Given the description of an element on the screen output the (x, y) to click on. 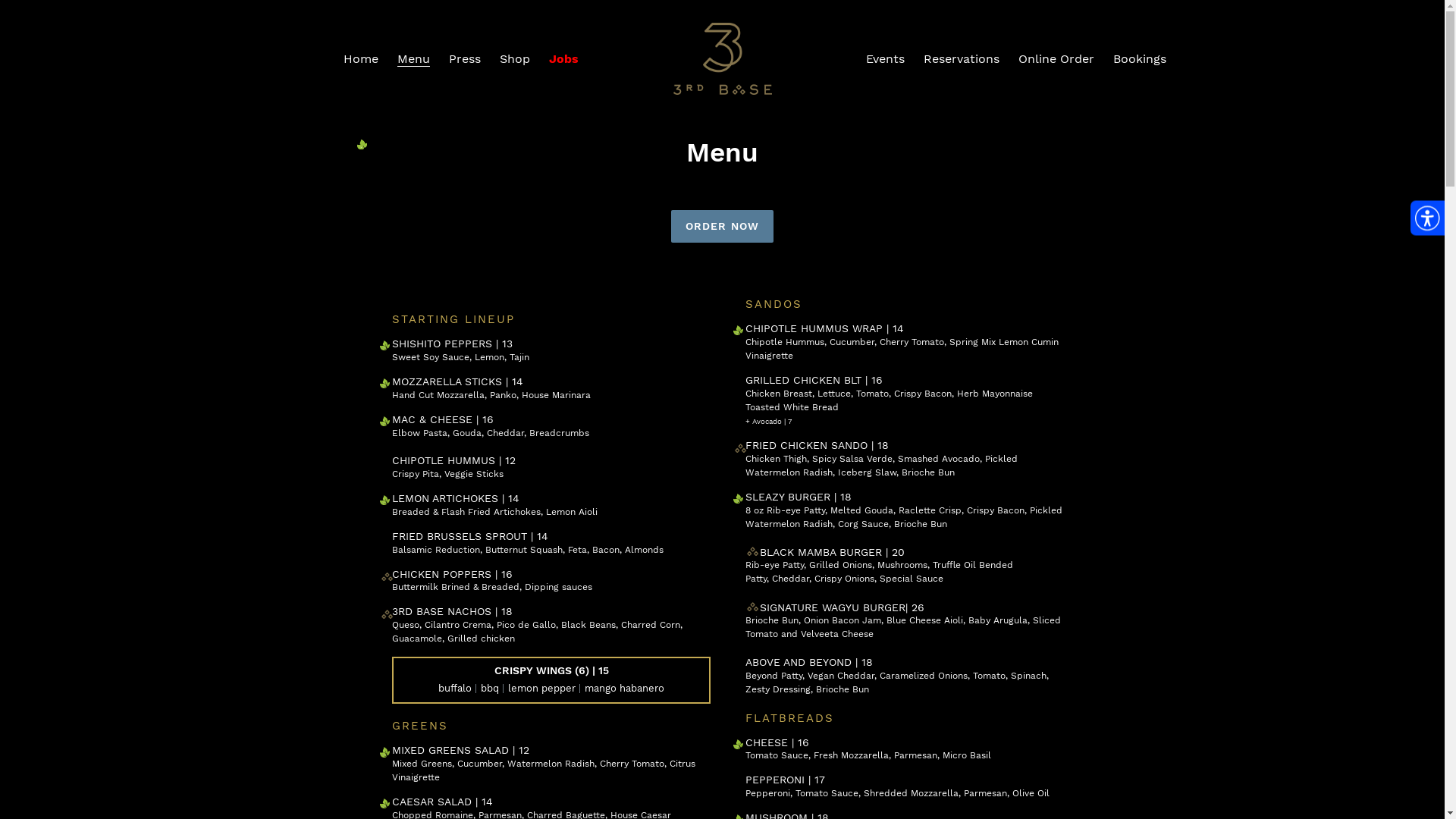
Jobs Element type: text (563, 58)
Home Element type: text (360, 58)
Events Element type: text (885, 58)
Bookings Element type: text (1139, 58)
Reservations Element type: text (961, 58)
Press Element type: text (464, 58)
Shop Element type: text (514, 58)
Online Order Element type: text (1055, 58)
ORDER NOW Element type: text (722, 226)
Menu Element type: text (413, 58)
